Given the description of an element on the screen output the (x, y) to click on. 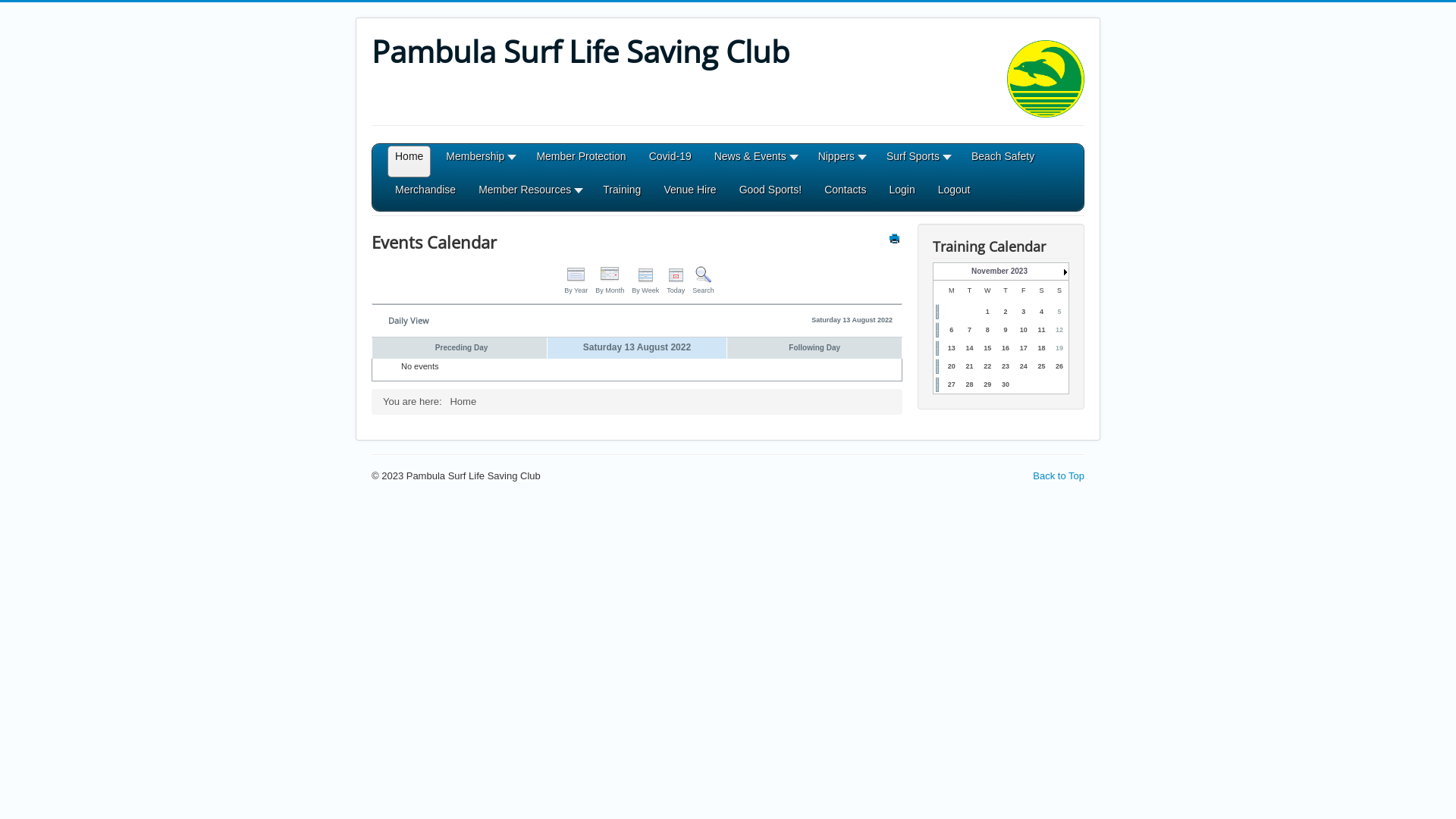
News & Events Element type: text (754, 162)
By Week Element type: text (644, 282)
23 Element type: text (1005, 366)
Logout Element type: text (954, 195)
By Year Element type: text (575, 282)
Print Element type: hover (895, 238)
27 Element type: text (951, 384)
Login Element type: text (901, 195)
Home Element type: text (409, 162)
5 Element type: text (1059, 311)
17 Element type: text (1023, 347)
By Month Element type: text (609, 282)
21 Element type: text (968, 366)
Venue Hire Element type: text (689, 195)
22 Element type: text (987, 366)
Pambula Surf Life Saving Club Element type: text (580, 51)
Member Protection Element type: text (580, 162)
15 Element type: text (987, 347)
20 Element type: text (951, 366)
16 Element type: text (1005, 347)
9 Element type: text (1005, 329)
18 Element type: text (1040, 347)
Nippers Element type: text (840, 162)
8 Element type: text (987, 329)
13 Element type: text (951, 347)
November 2023 Element type: text (999, 270)
11 Element type: text (1040, 329)
30 Element type: text (1005, 384)
Preceding Day Element type: text (461, 347)
26 Element type: text (1059, 366)
6 Element type: text (951, 329)
29 Element type: text (987, 384)
Membership Element type: text (479, 162)
24 Element type: text (1023, 366)
Merchandise Element type: text (425, 195)
Today Element type: text (675, 282)
Good Sports! Element type: text (770, 195)
Beach Safety Element type: text (1002, 162)
1 Element type: text (987, 311)
Next Month Element type: hover (1064, 271)
14 Element type: text (968, 347)
Contacts Element type: text (845, 195)
Training Element type: text (621, 195)
Surf Sports Element type: text (917, 162)
Search Element type: text (703, 282)
2 Element type: text (1005, 311)
7 Element type: text (969, 329)
28 Element type: text (968, 384)
Back to Top Element type: text (1058, 475)
Covid-19 Element type: text (670, 162)
12 Element type: text (1059, 329)
19 Element type: text (1059, 347)
10 Element type: text (1023, 329)
4 Element type: text (1041, 311)
Following Day Element type: text (814, 347)
25 Element type: text (1040, 366)
Member Resources Element type: text (529, 195)
3 Element type: text (1023, 311)
